Given the description of an element on the screen output the (x, y) to click on. 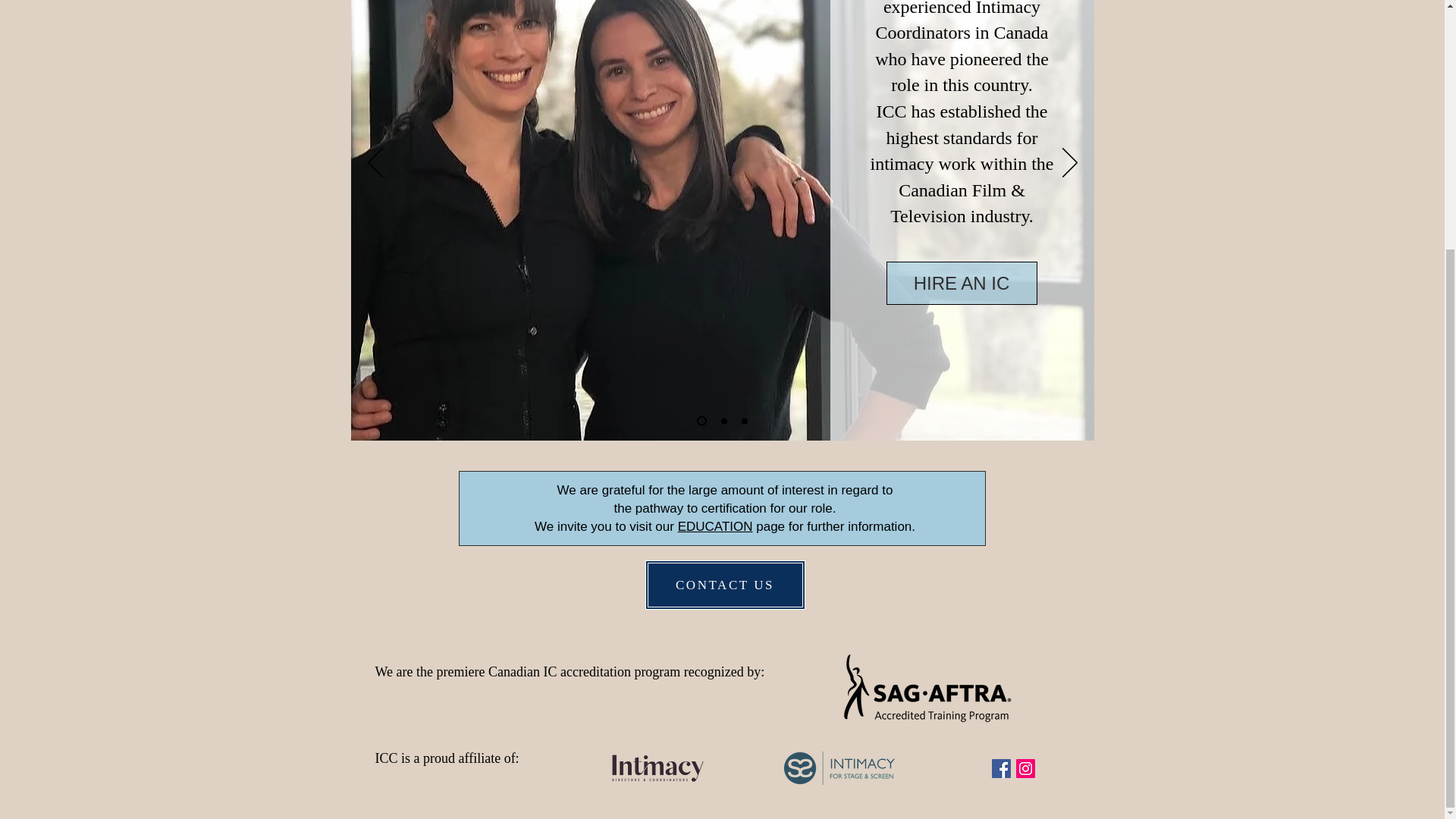
CONTACT US (725, 584)
certification (734, 508)
HIRE AN IC (960, 282)
EDUCATION (715, 526)
